Given the description of an element on the screen output the (x, y) to click on. 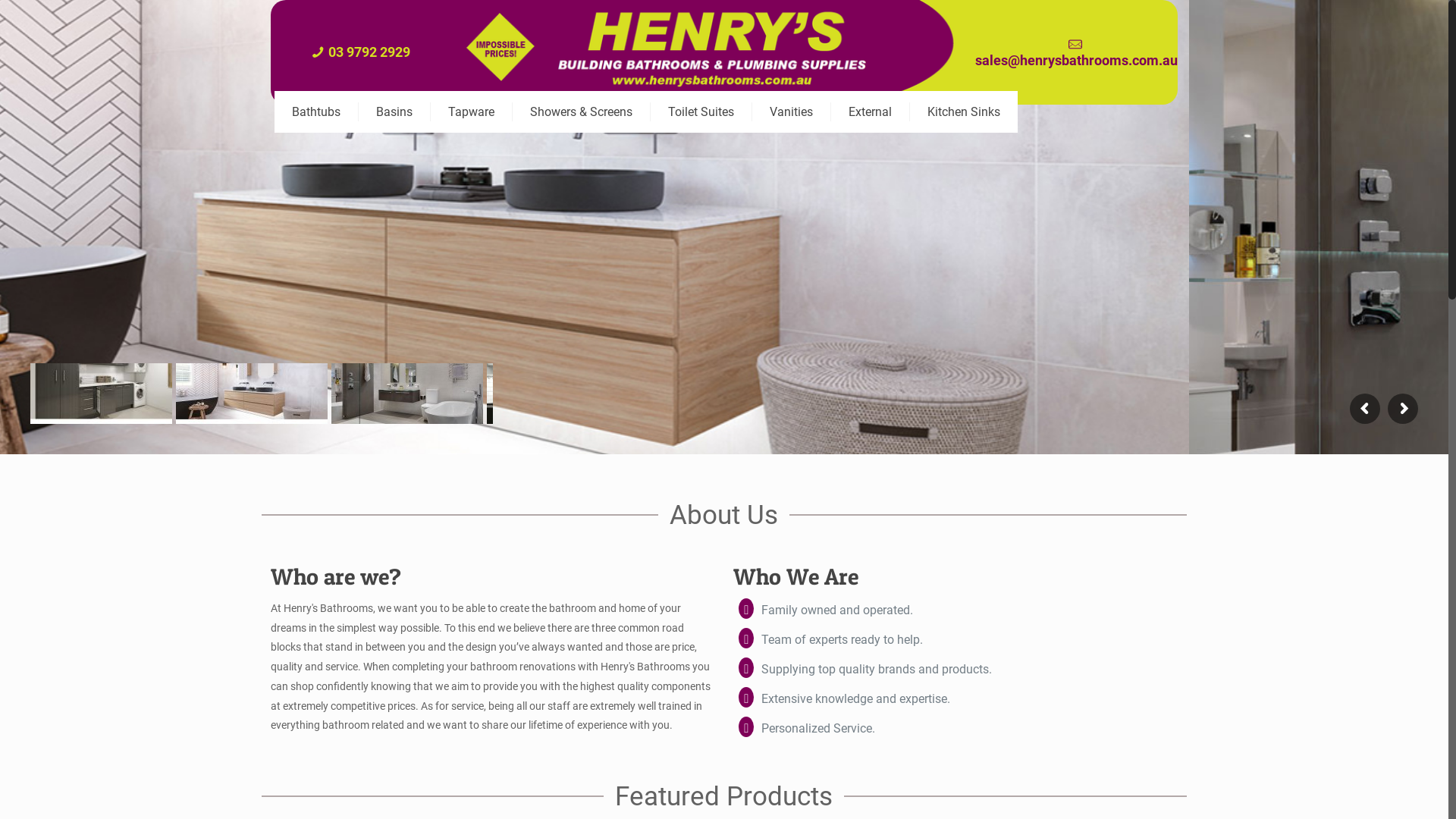
Henrys Bathrooms Element type: hover (711, 100)
03 9792 2929 Element type: text (369, 51)
Tapware Element type: text (471, 111)
External Element type: text (870, 111)
Basins Element type: text (394, 111)
Showers & Screens Element type: text (581, 111)
Vanities Element type: text (791, 111)
Kitchen Sinks Element type: text (963, 111)
sales@henrysbathrooms.com.au Element type: text (1076, 60)
Bathtubs Element type: text (316, 111)
Toilet Suites Element type: text (701, 111)
